Given the description of an element on the screen output the (x, y) to click on. 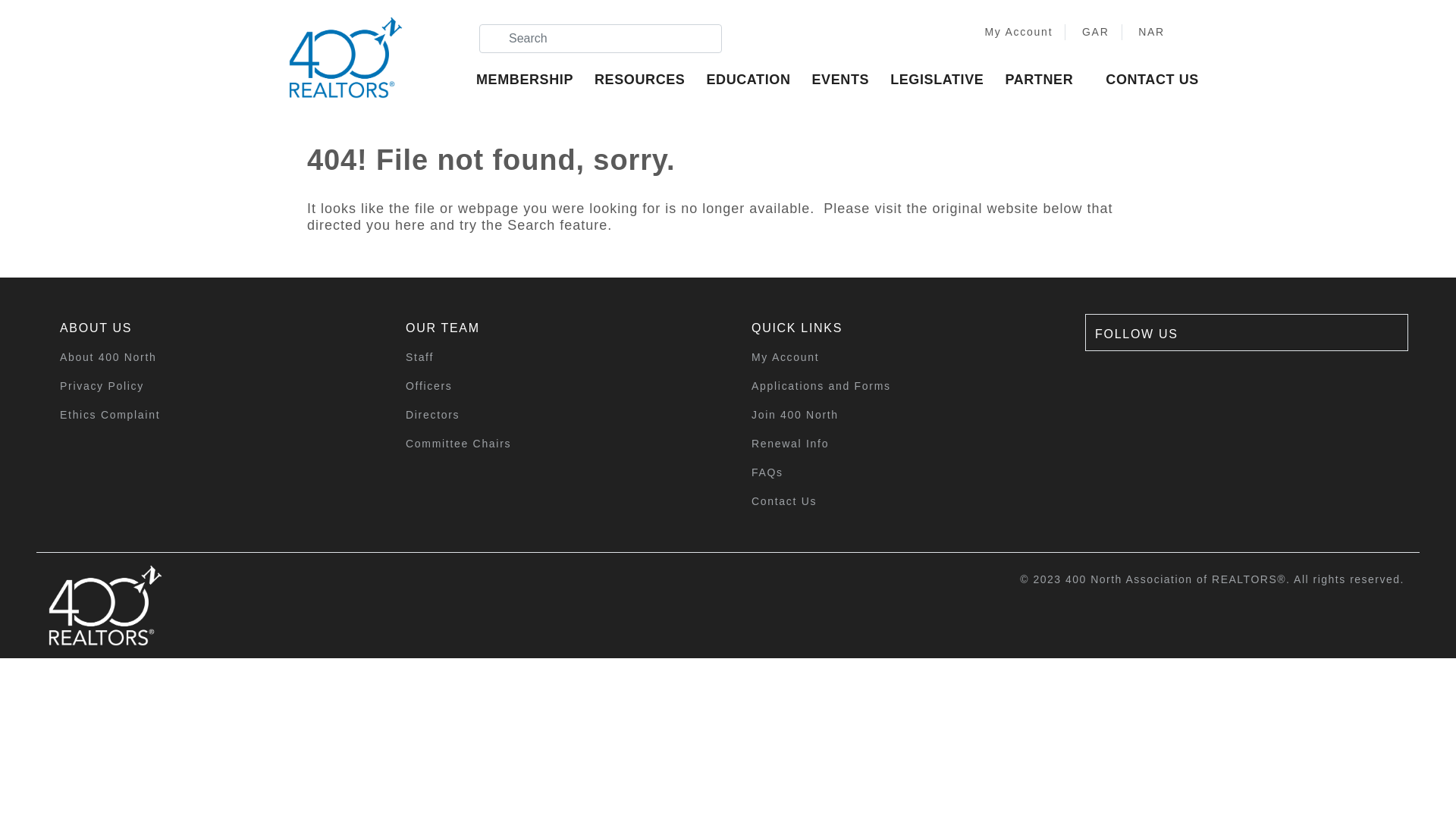
Renewal Info Element type: text (900, 443)
Join 400 North Element type: text (900, 414)
ABOUT US Element type: text (208, 327)
QUICK LINKS Element type: text (900, 327)
 NAR Element type: text (1149, 32)
Applications and Forms Element type: text (900, 385)
Ethics Complaint Element type: text (208, 414)
LEGISLATIVE Element type: text (944, 79)
MEMBERSHIP Element type: text (532, 79)
PARTNER Element type: text (1046, 79)
Directors Element type: text (554, 414)
FAQs Element type: text (900, 472)
CONTACT US Element type: text (1159, 79)
logo Element type: hover (345, 57)
EVENTS Element type: text (847, 79)
Open image in original size Element type: hover (151, 605)
Search input Element type: hover (600, 38)
My Account Element type: text (900, 356)
RESOURCES Element type: text (646, 79)
logo-white Element type: hover (105, 605)
Privacy Policy Element type: text (208, 385)
OUR TEAM Element type: text (554, 327)
Staff Element type: text (554, 356)
Committee Chairs Element type: text (554, 443)
About 400 North Element type: text (208, 356)
EDUCATION Element type: text (755, 79)
Open image in original size Element type: hover (345, 53)
Officers Element type: text (554, 385)
 GAR Element type: text (1092, 32)
Contact Us Element type: text (900, 500)
My Account Element type: text (1015, 32)
